Given the description of an element on the screen output the (x, y) to click on. 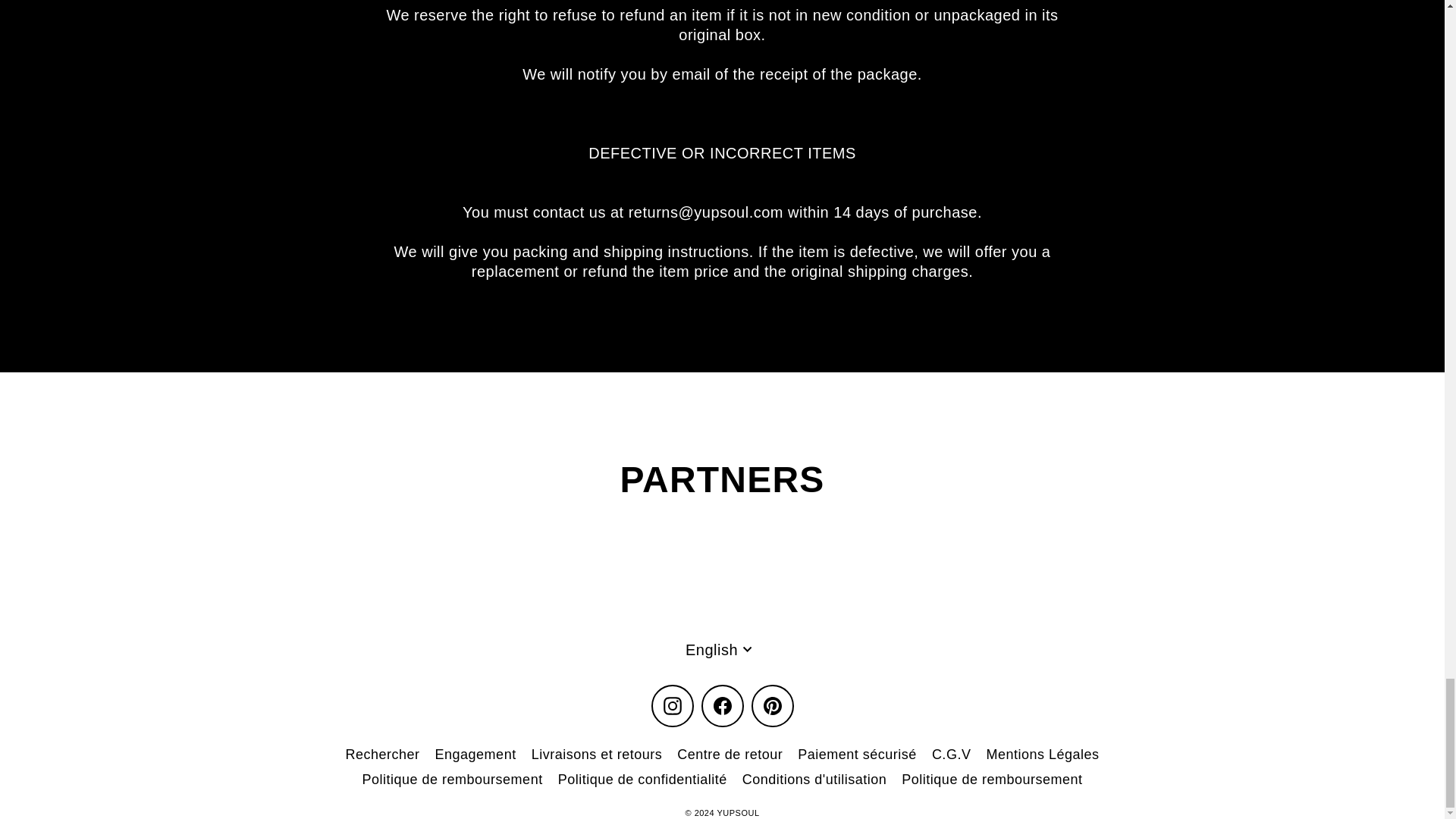
YUPSOUL on Instagram (671, 705)
YUPSOUL on Facebook (721, 705)
YUPSOUL on Pinterest (772, 705)
